Given the description of an element on the screen output the (x, y) to click on. 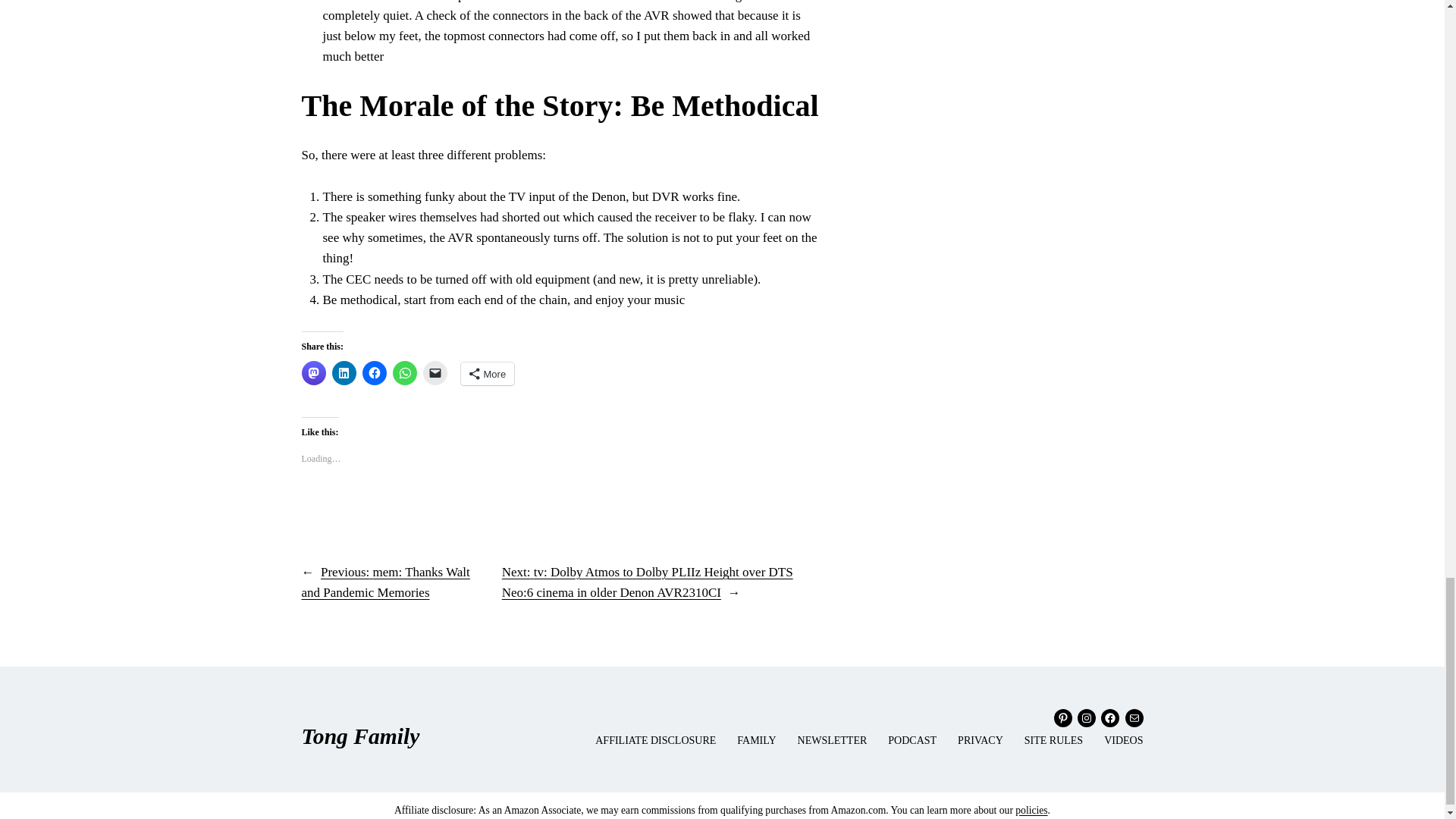
Click to share on Facebook (374, 372)
Click to email a link to a friend (434, 372)
Click to share on Mastodon (313, 372)
More (488, 373)
Click to share on LinkedIn (343, 372)
Click to share on WhatsApp (404, 372)
Previous: mem: Thanks Walt and Pandemic Memories (385, 582)
